Given the description of an element on the screen output the (x, y) to click on. 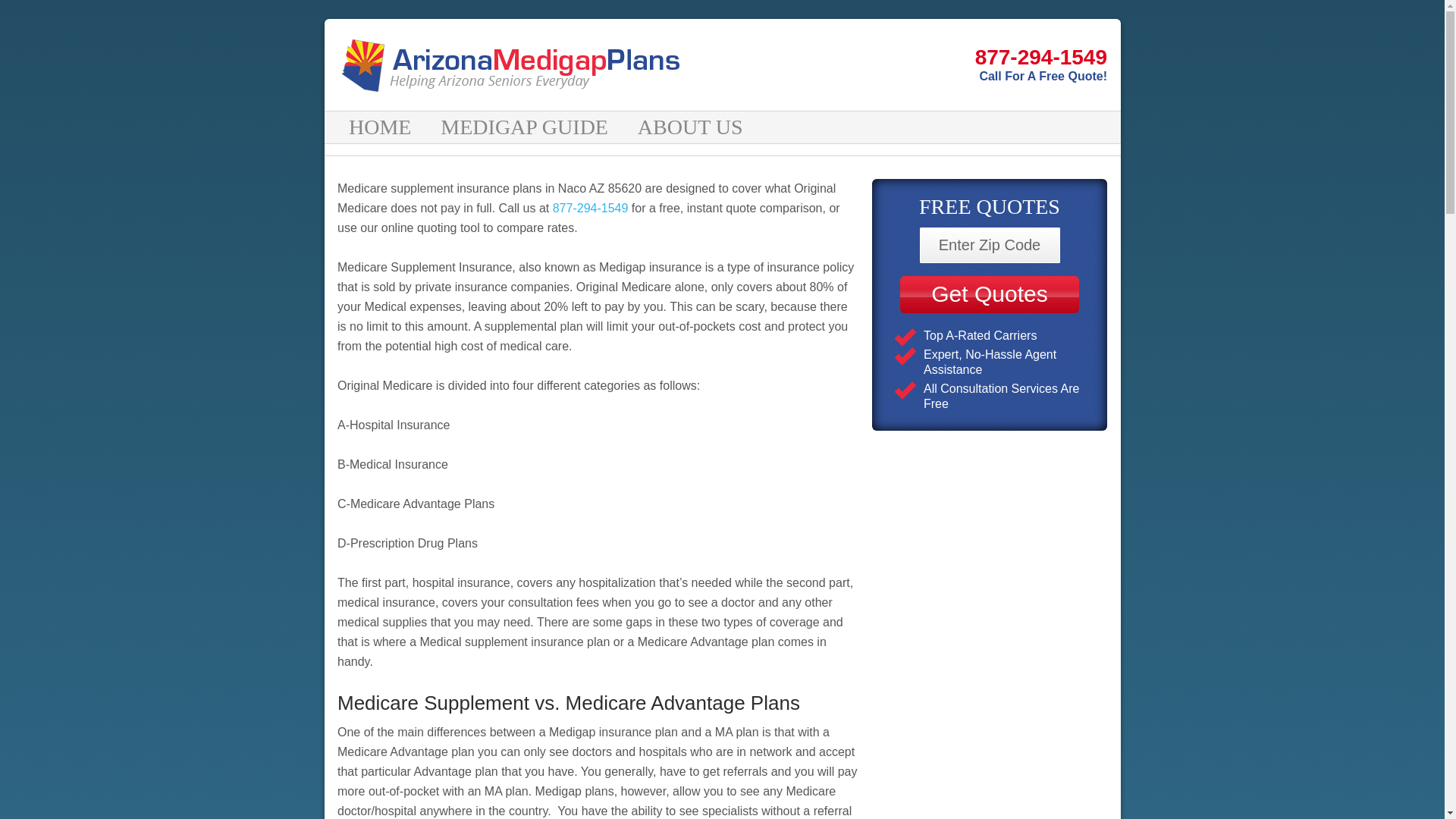
Arizona Medigap Plans (517, 64)
MEDIGAP GUIDE (526, 127)
Get Quotes (988, 294)
Get Quotes (988, 294)
877-294-1549 (590, 207)
ABOUT US (692, 127)
HOME (381, 127)
877-294-1549 (905, 57)
